Given the description of an element on the screen output the (x, y) to click on. 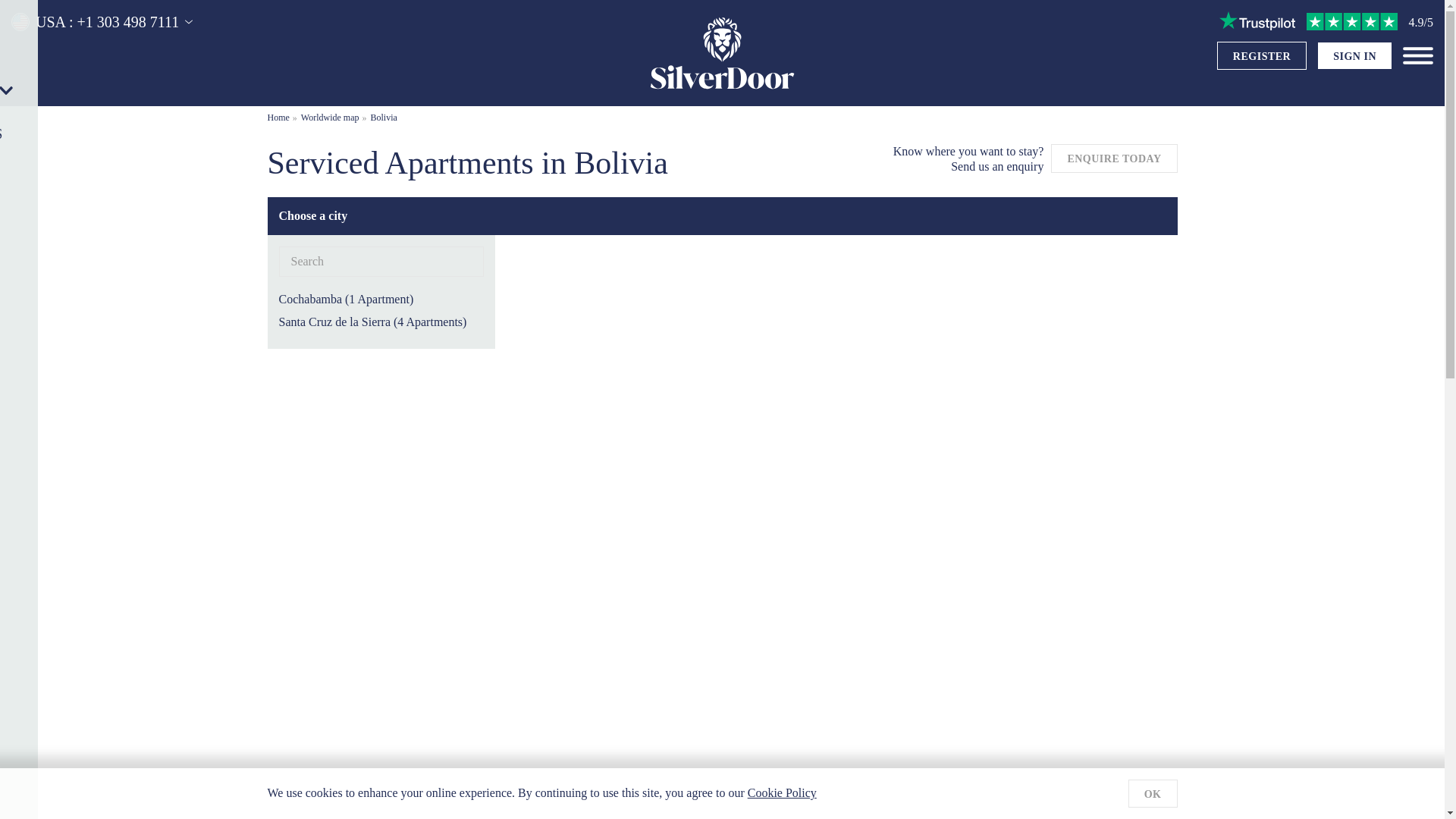
Worldwide map (330, 117)
ENQUIRE TODAY (1113, 158)
SIGN IN (1354, 55)
Home (277, 117)
REGISTER (1261, 55)
Bolivia (384, 117)
ENQUIRE TODAY (1113, 155)
